Given the description of an element on the screen output the (x, y) to click on. 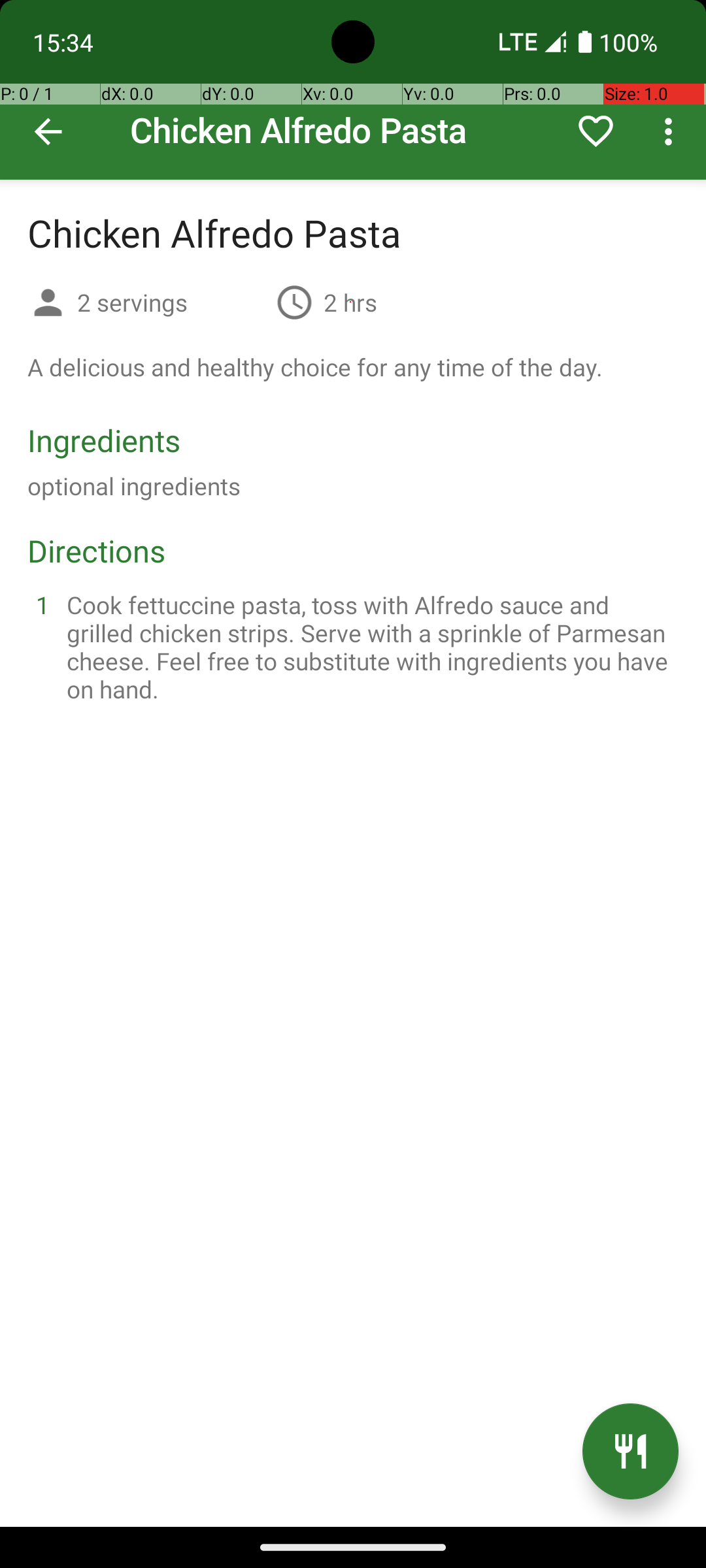
optional ingredients Element type: android.widget.TextView (133, 485)
Cook fettuccine pasta, toss with Alfredo sauce and grilled chicken strips. Serve with a sprinkle of Parmesan cheese. Feel free to substitute with ingredients you have on hand. Element type: android.widget.TextView (368, 646)
